Given the description of an element on the screen output the (x, y) to click on. 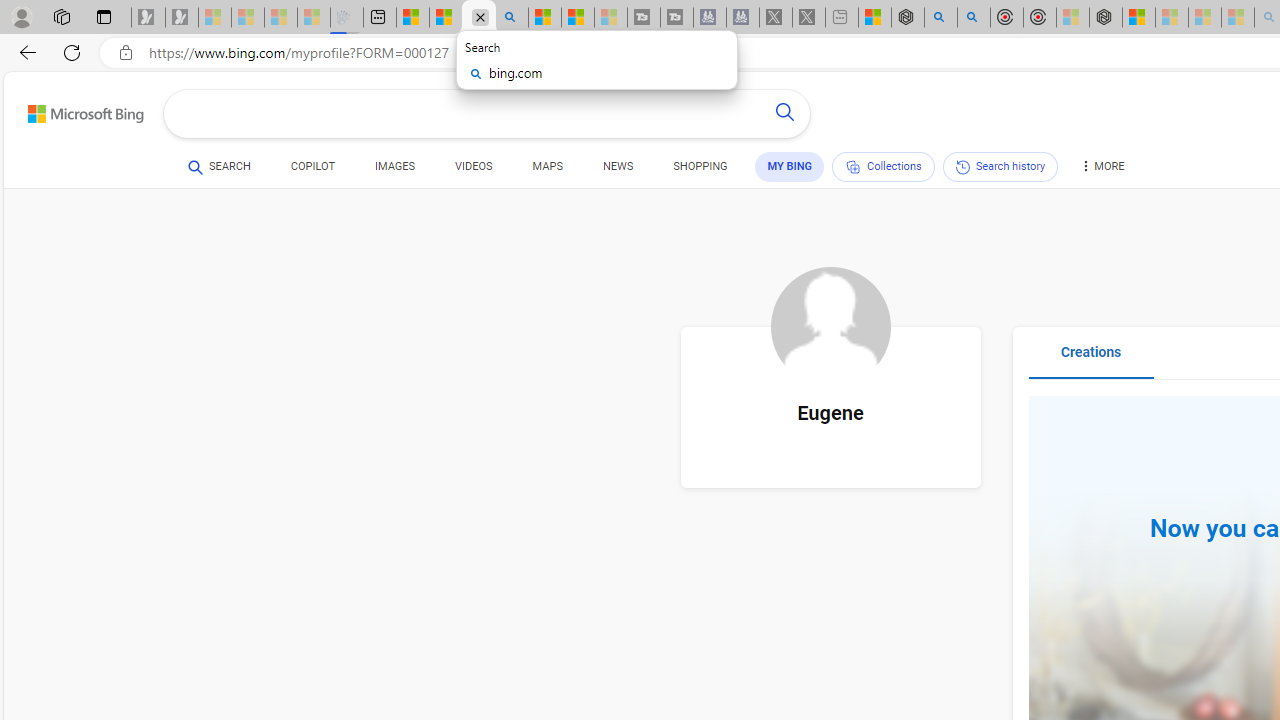
MY BING (789, 166)
SHOPPING (699, 166)
COPILOT (311, 166)
MORE (1101, 169)
Class: b_pri_nav_svg (852, 167)
Search history (1000, 166)
Nordace - Nordace Siena Is Not An Ordinary Backpack (1106, 17)
X - Sleeping (808, 17)
IMAGES (394, 166)
VIDEOS (473, 166)
